Given the description of an element on the screen output the (x, y) to click on. 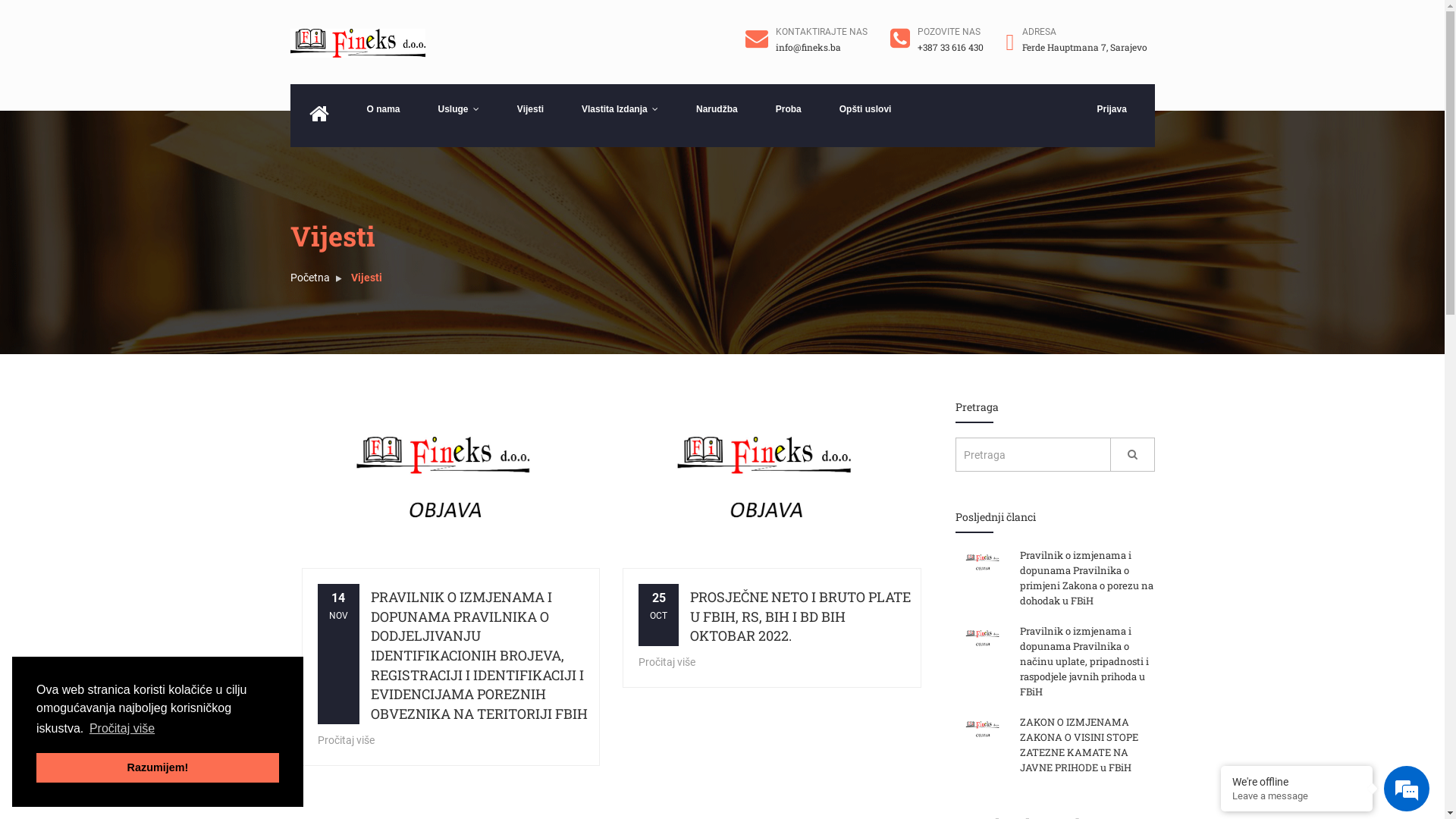
O nama Element type: text (382, 111)
Usluge Element type: text (458, 111)
Razumijem! Element type: text (157, 767)
Vlastita Izdanja Element type: text (619, 111)
POZOVITE NAS Element type: text (948, 31)
ADRESA Element type: text (1039, 31)
KONTAKTIRAJTE NAS Element type: text (821, 31)
Vijesti Element type: text (530, 111)
Prijava   Element type: text (1115, 111)
Proba Element type: text (788, 111)
